Given the description of an element on the screen output the (x, y) to click on. 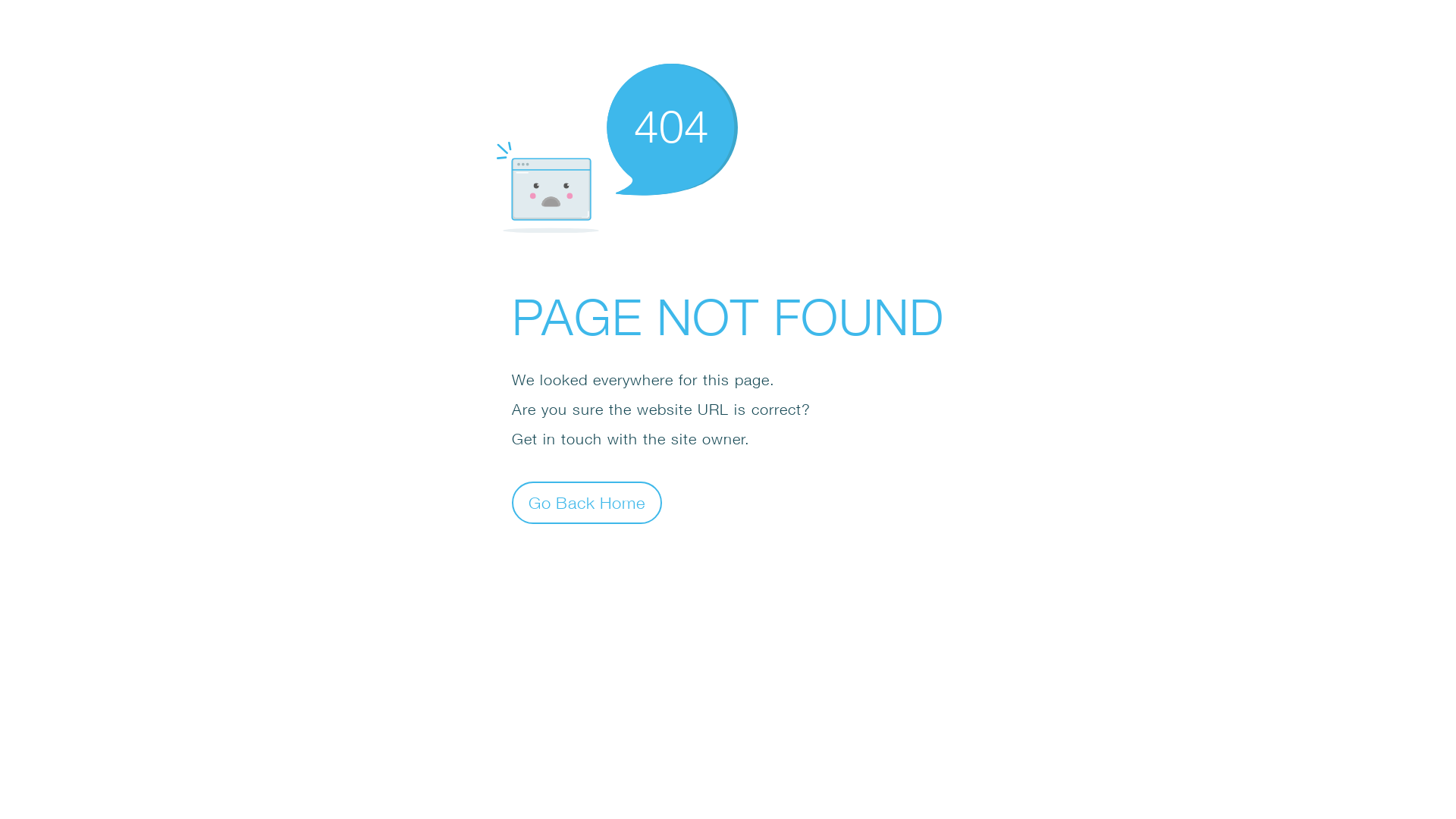
Go Back Home Element type: text (586, 502)
